Given the description of an element on the screen output the (x, y) to click on. 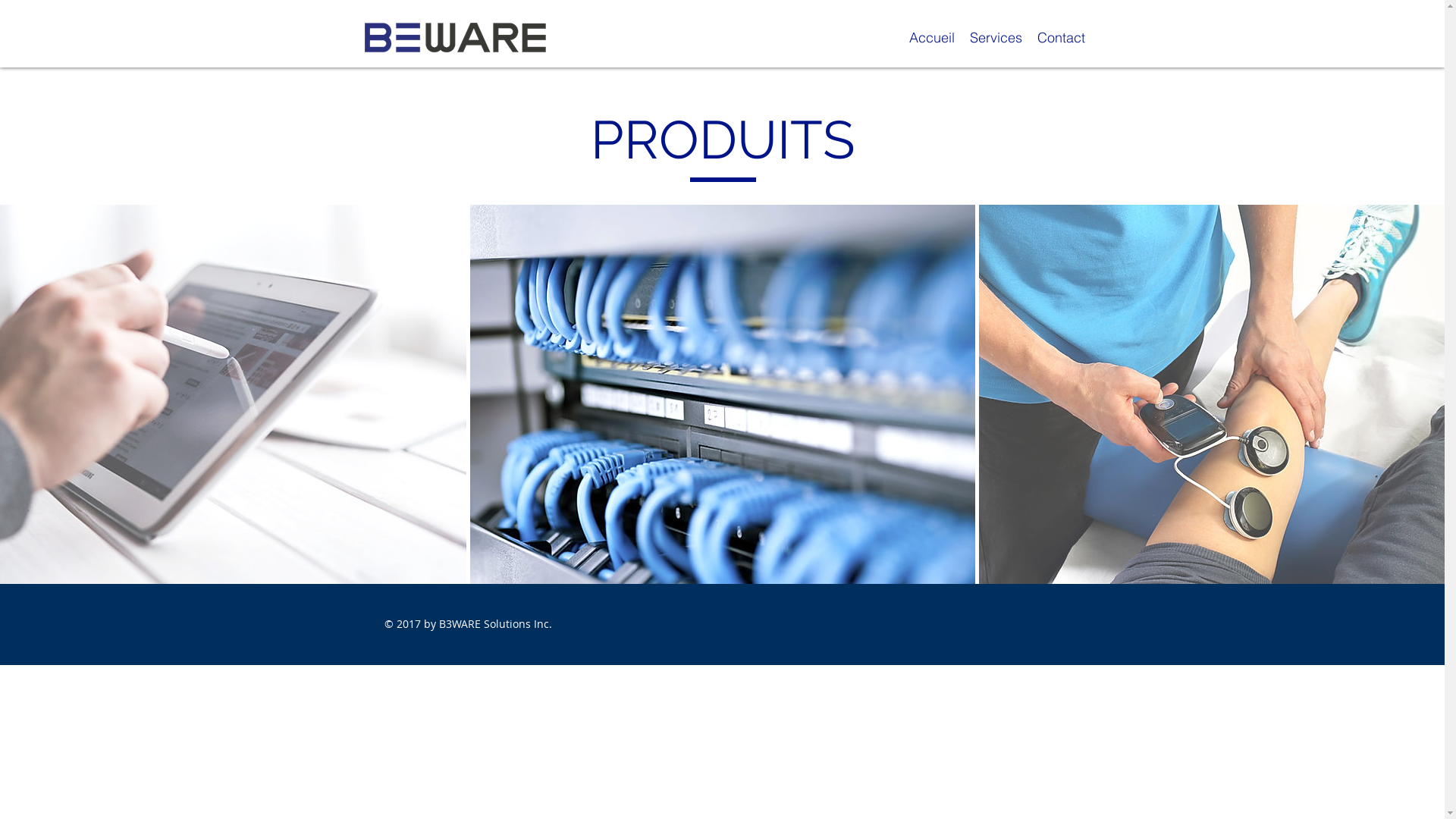
Accueil Element type: text (930, 36)
Contact Element type: text (1060, 36)
Services Element type: text (995, 36)
